Given the description of an element on the screen output the (x, y) to click on. 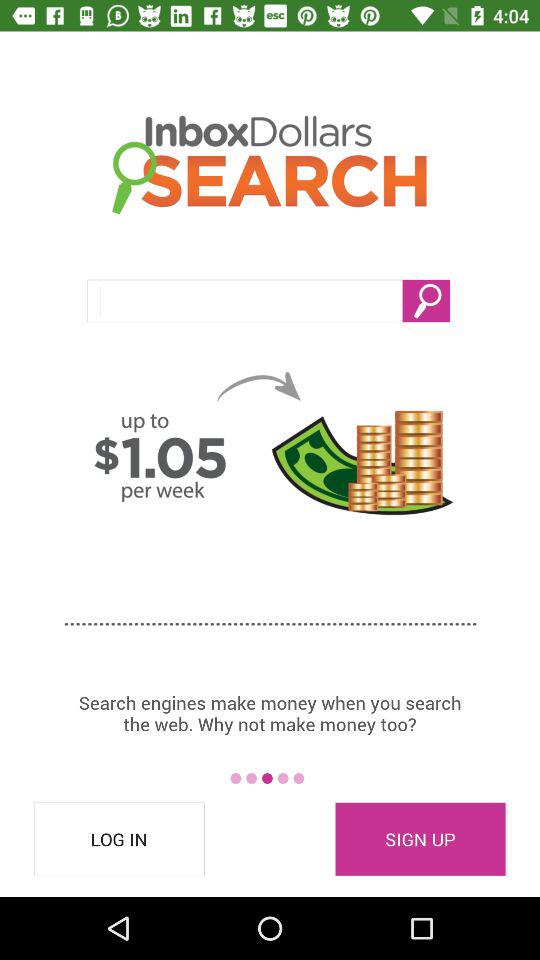
flip until log in (119, 839)
